Given the description of an element on the screen output the (x, y) to click on. 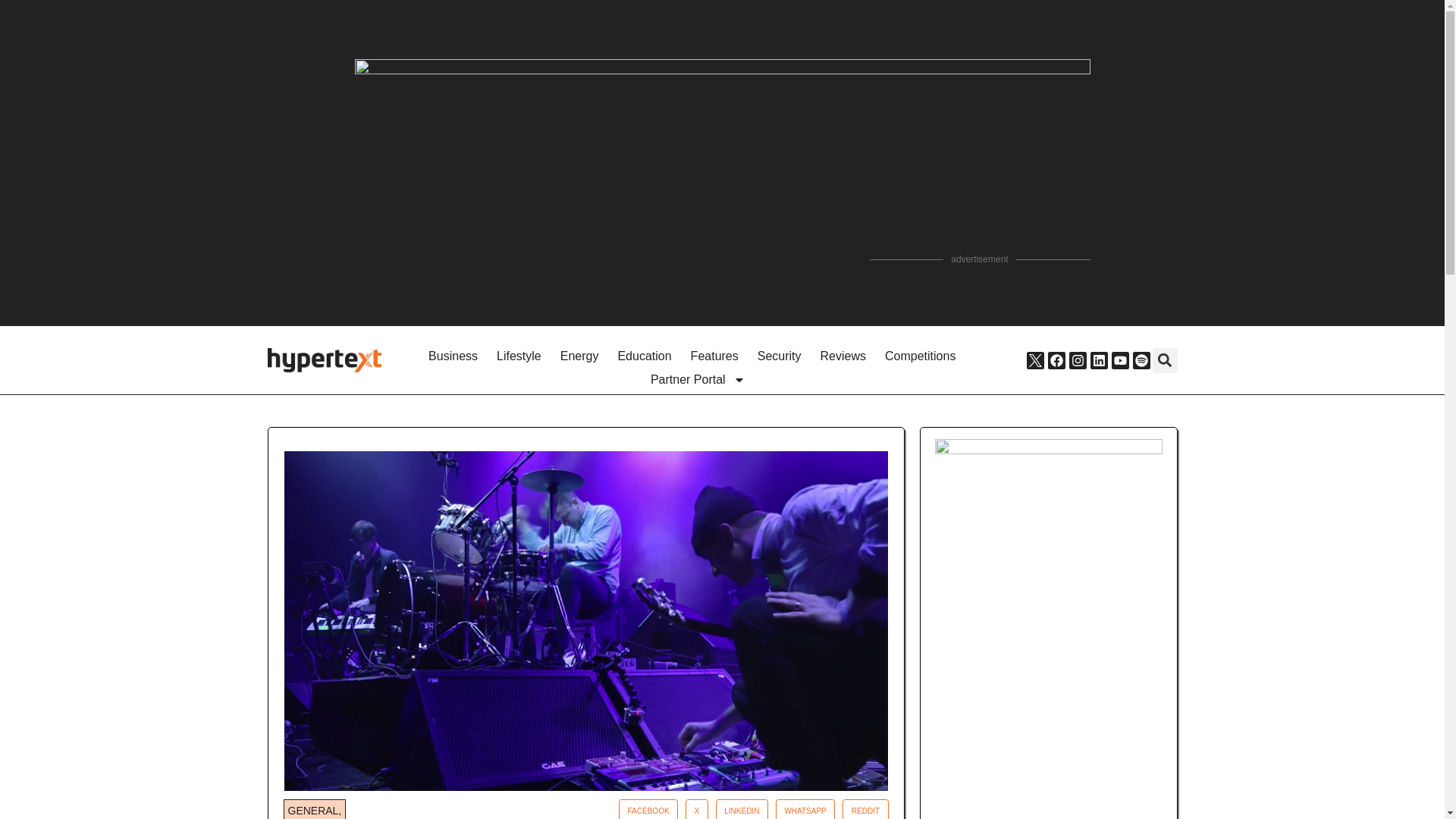
Competitions (919, 356)
Partner Portal (697, 380)
Education (643, 356)
Security (779, 356)
Lifestyle (518, 356)
Energy (579, 356)
Reviews (842, 356)
Features (714, 356)
Business (453, 356)
